Given the description of an element on the screen output the (x, y) to click on. 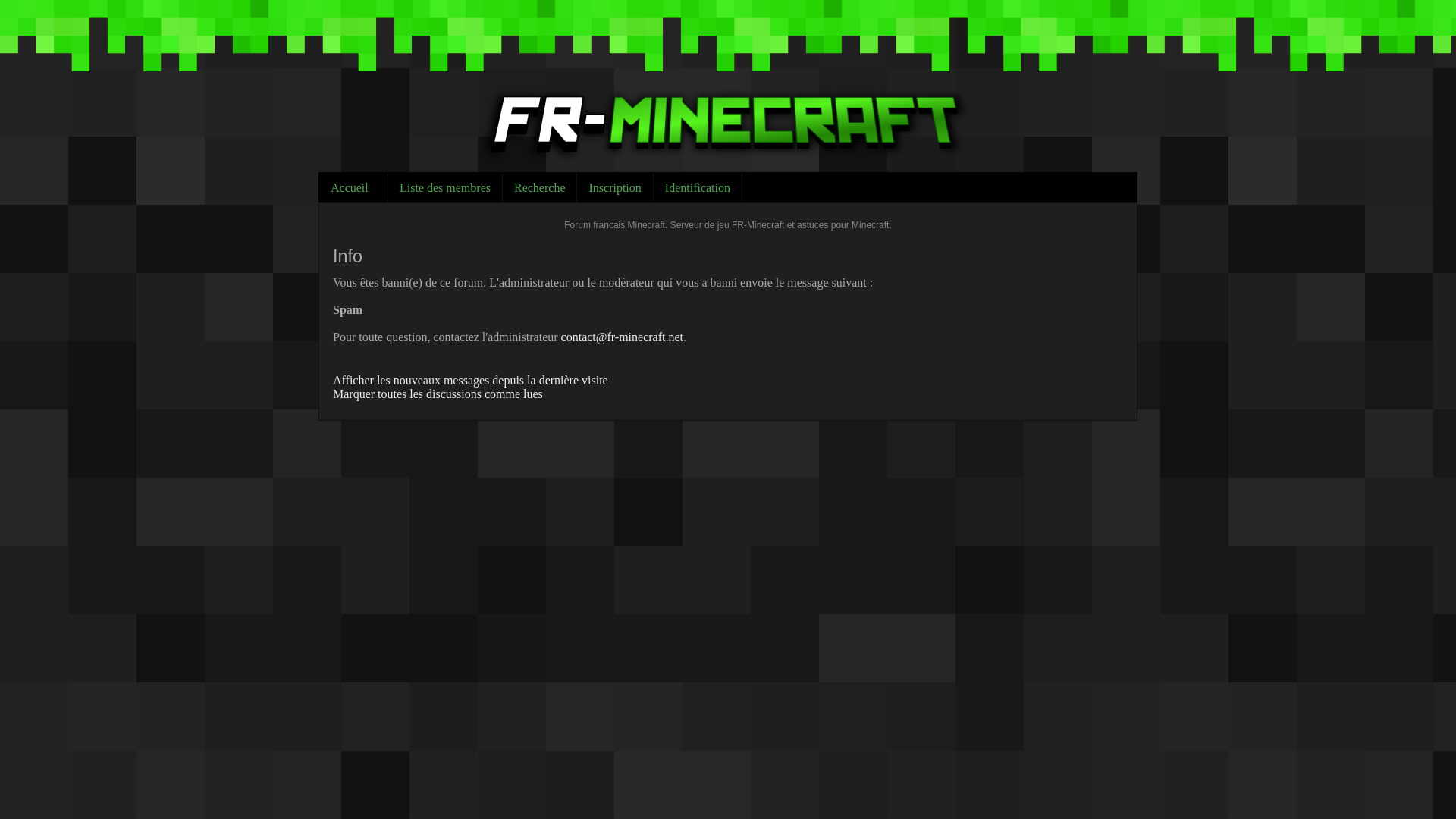
Liste des membres (445, 187)
Identification (697, 187)
Recherche (540, 187)
Accueil (353, 187)
Inscription (614, 187)
